Given the description of an element on the screen output the (x, y) to click on. 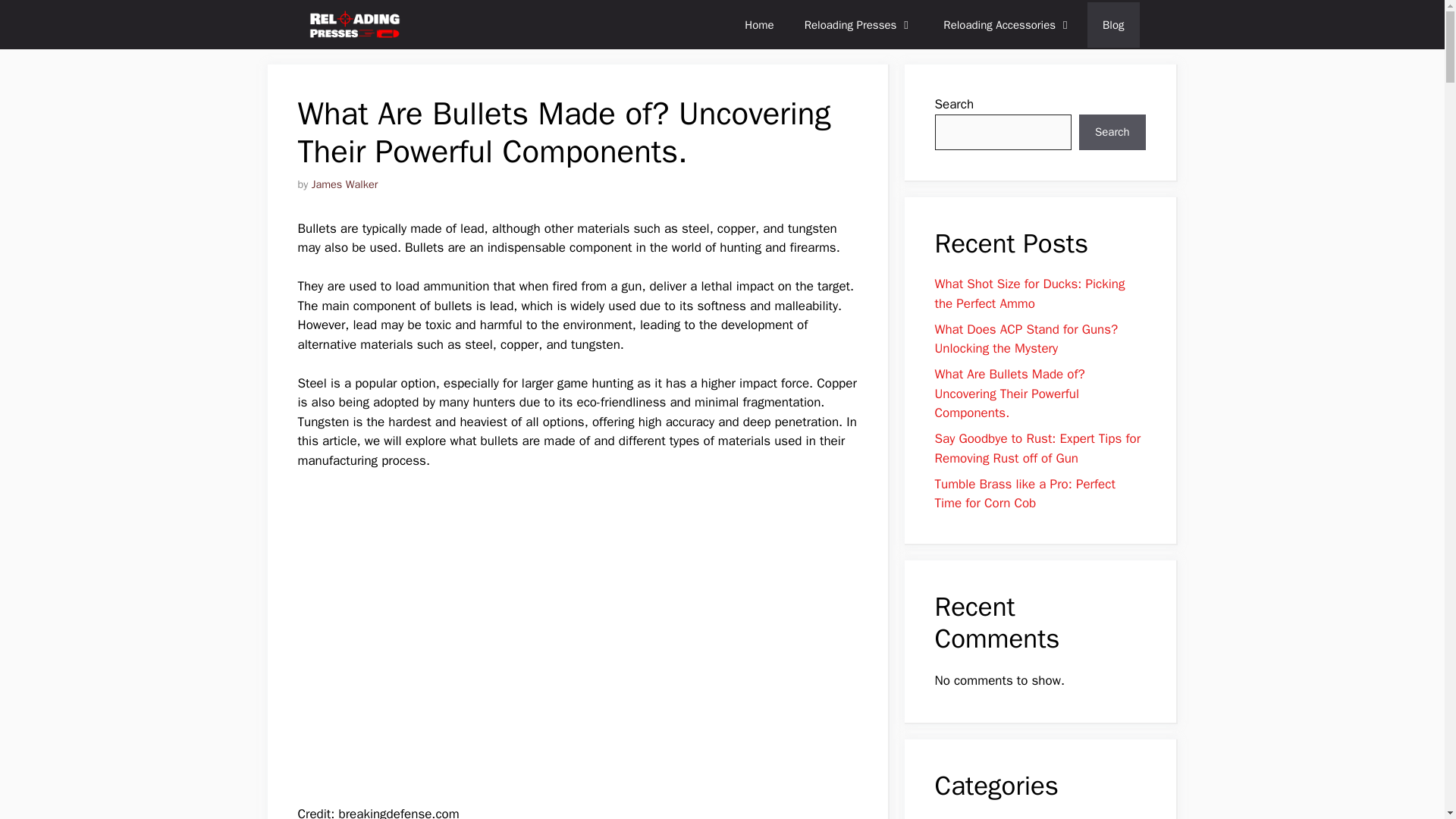
Reloading Accessories (1007, 23)
What Shot Size for Ducks: Picking the Perfect Ammo (1029, 294)
Search (1111, 131)
Blog (1112, 23)
View all posts by James Walker (344, 183)
Reloading Presses (858, 23)
Tumble Brass like a Pro: Perfect Time for Corn Cob (1024, 493)
What Does ACP Stand for Guns? Unlocking the Mystery (1026, 339)
Best Reloading Presses (354, 24)
Home (759, 23)
James Walker (344, 183)
